Given the description of an element on the screen output the (x, y) to click on. 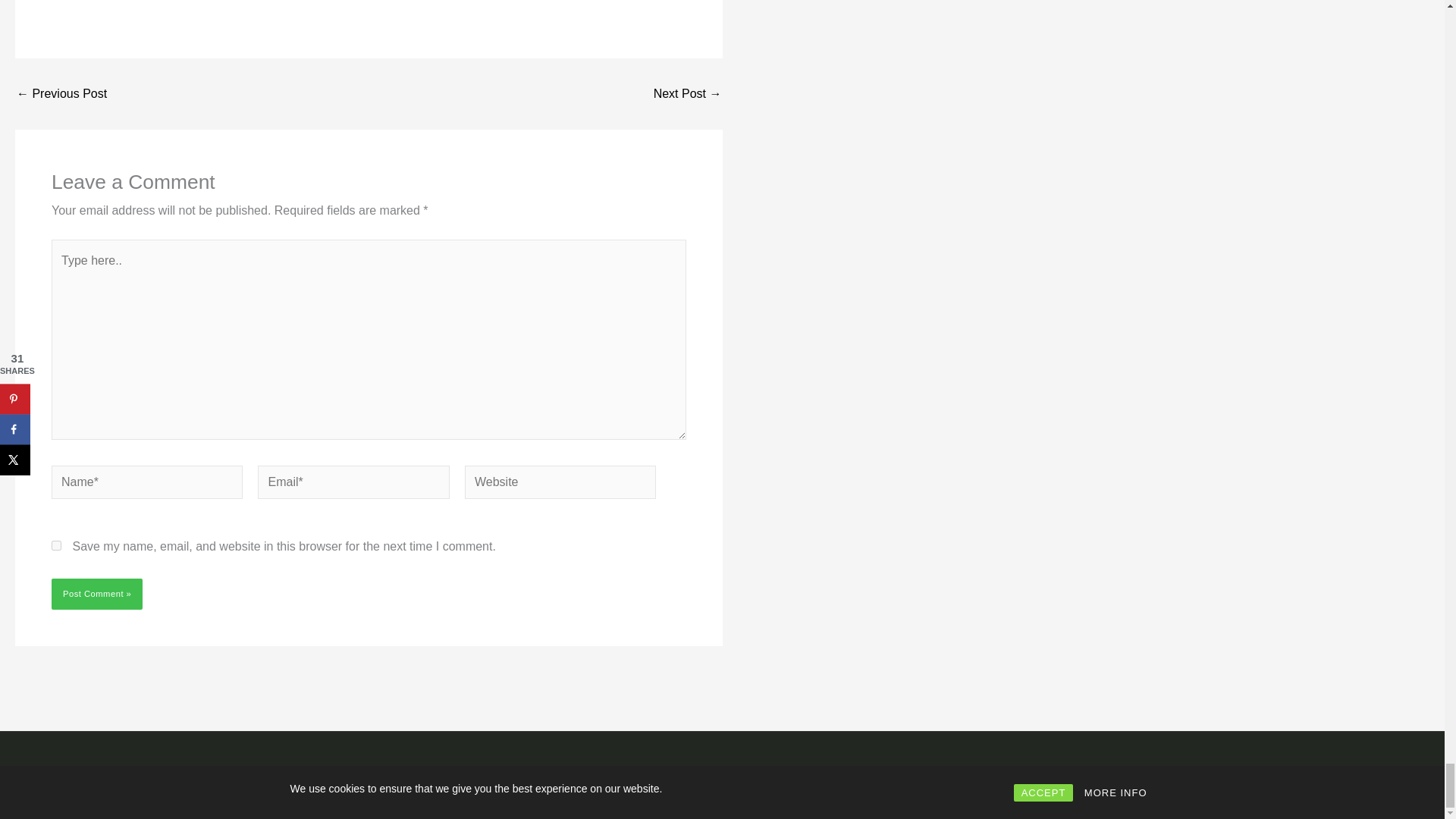
I Need Money Desperately; 16 Legit Ways To Make Fast Cash (687, 93)
yes (55, 545)
